Given the description of an element on the screen output the (x, y) to click on. 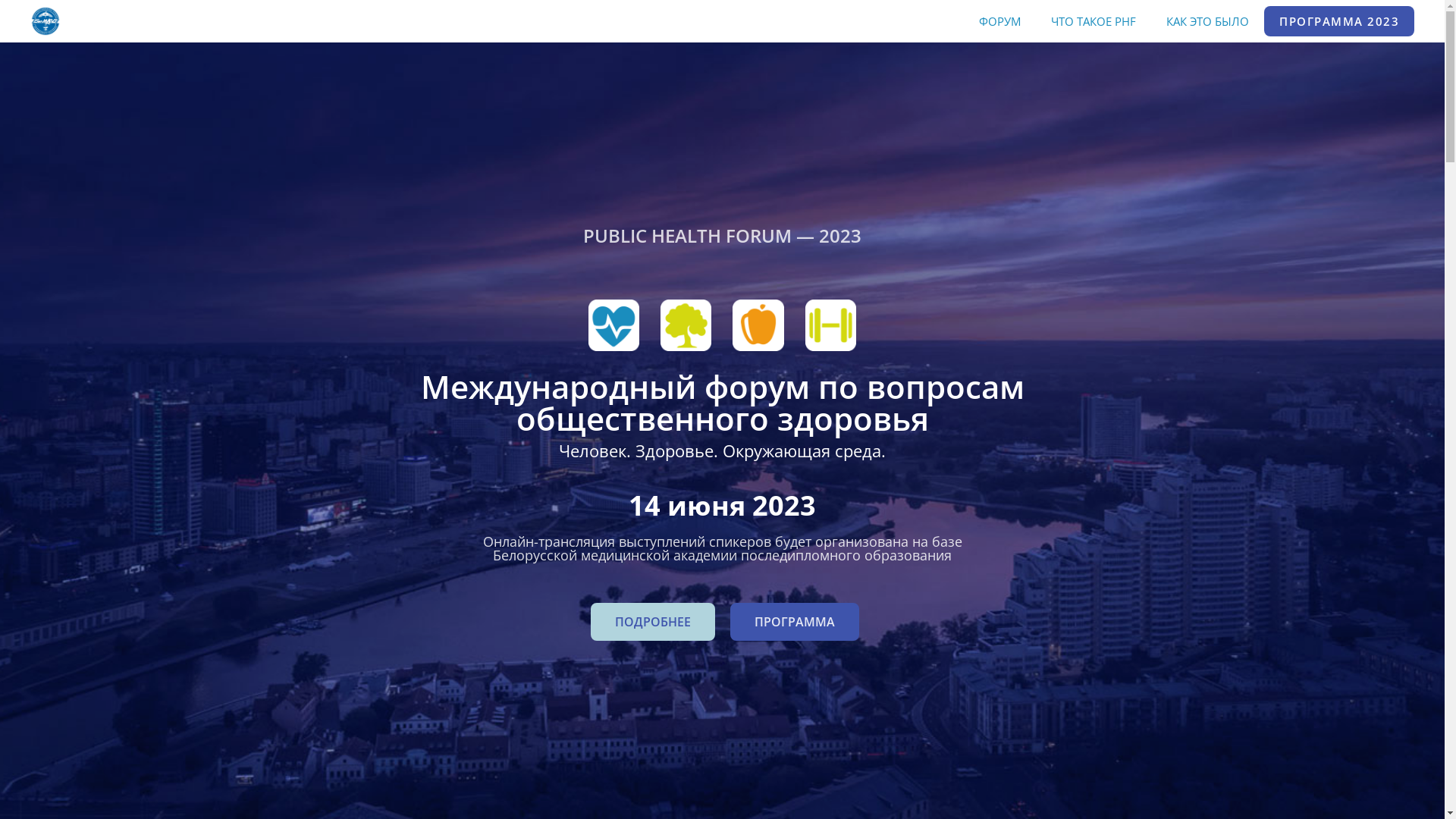
healthforum.by Element type: hover (45, 19)
healthforum.by Element type: hover (45, 21)
